Given the description of an element on the screen output the (x, y) to click on. 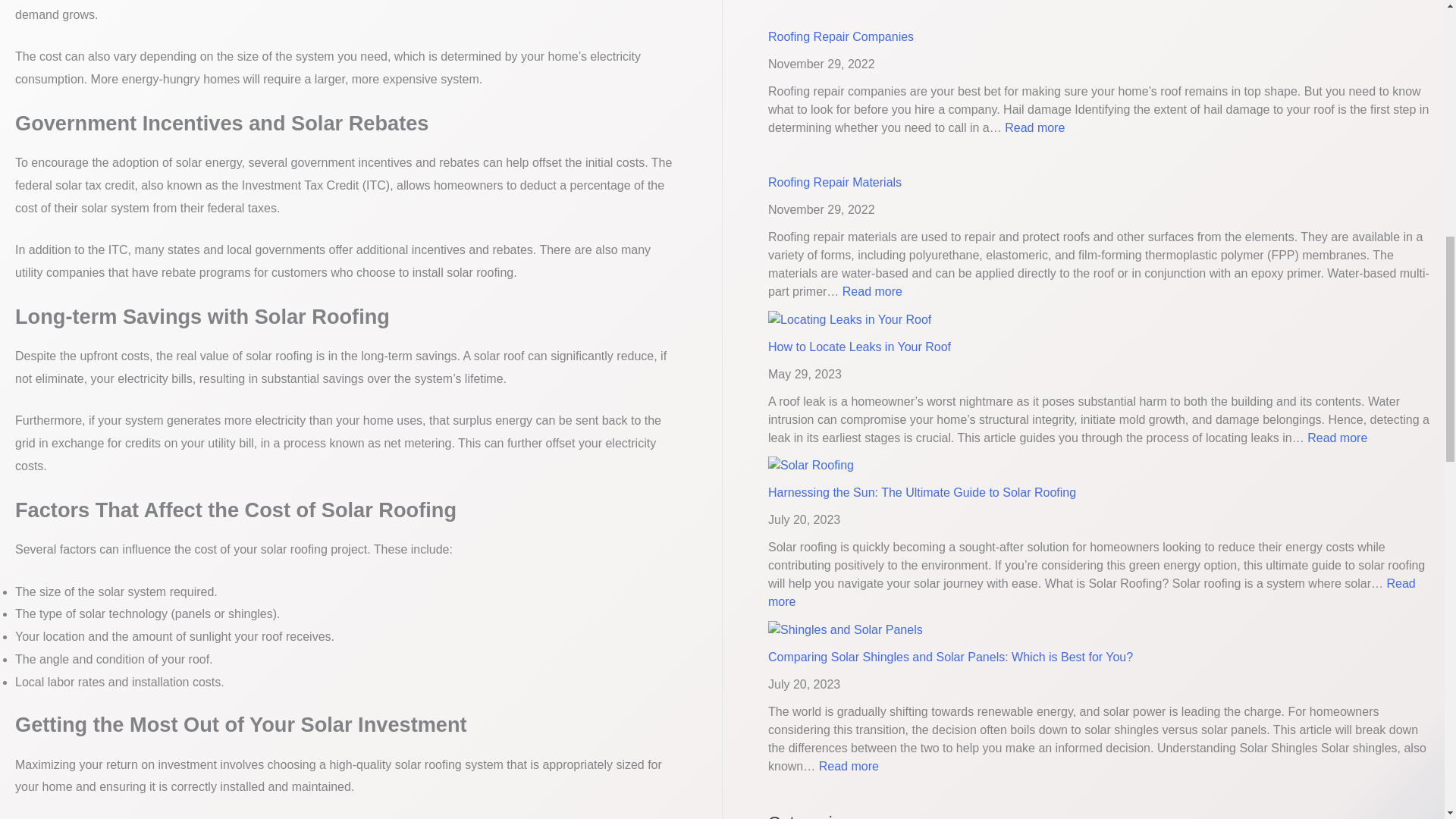
Roofing Repair Companies (872, 291)
How to Locate Leaks in Your Roof (1034, 127)
Roofing Repair Materials (841, 36)
